Given the description of an element on the screen output the (x, y) to click on. 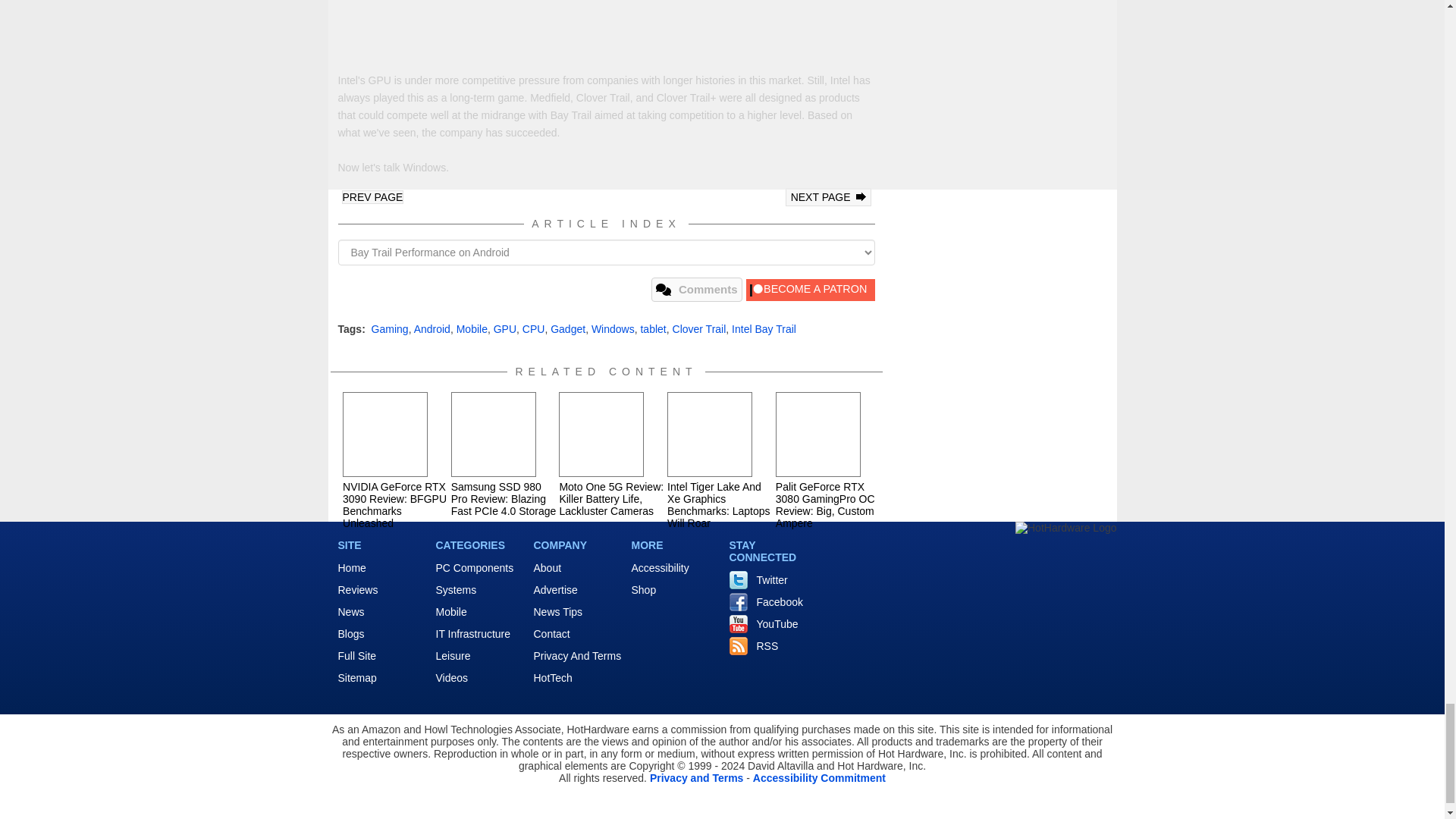
NVIDIA GeForce RTX 3090 Review: BFGPU Benchmarks Unleashed (384, 434)
Comments (696, 289)
Moto One 5G Review: Killer Battery Life, Lackluster Cameras (601, 434)
Samsung SSD 980 Pro Review: Blazing Fast PCIe 4.0 Storage (493, 434)
